Given the description of an element on the screen output the (x, y) to click on. 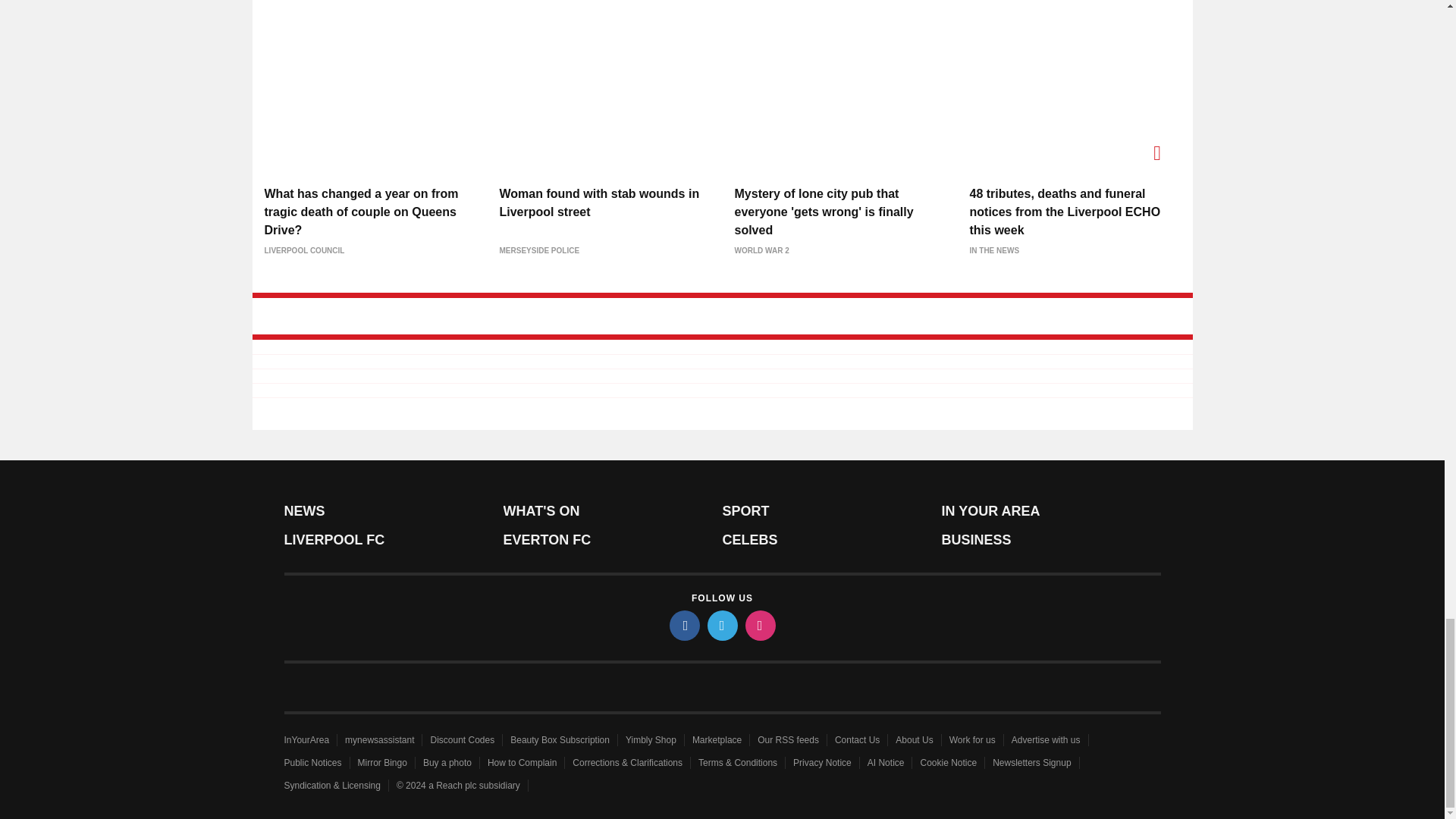
instagram (759, 625)
facebook (683, 625)
twitter (721, 625)
